Given the description of an element on the screen output the (x, y) to click on. 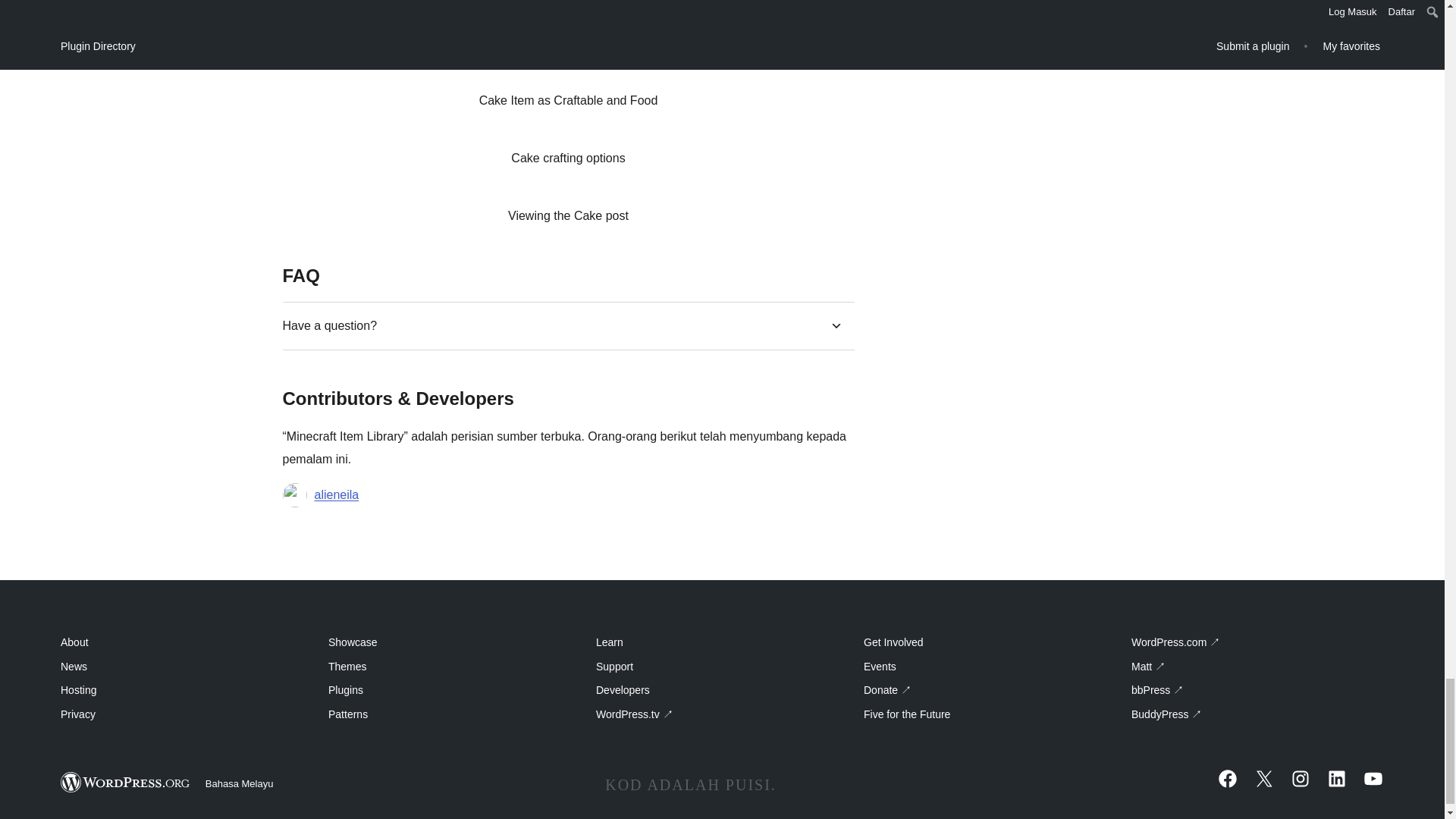
WordPress.org (125, 782)
